Given the description of an element on the screen output the (x, y) to click on. 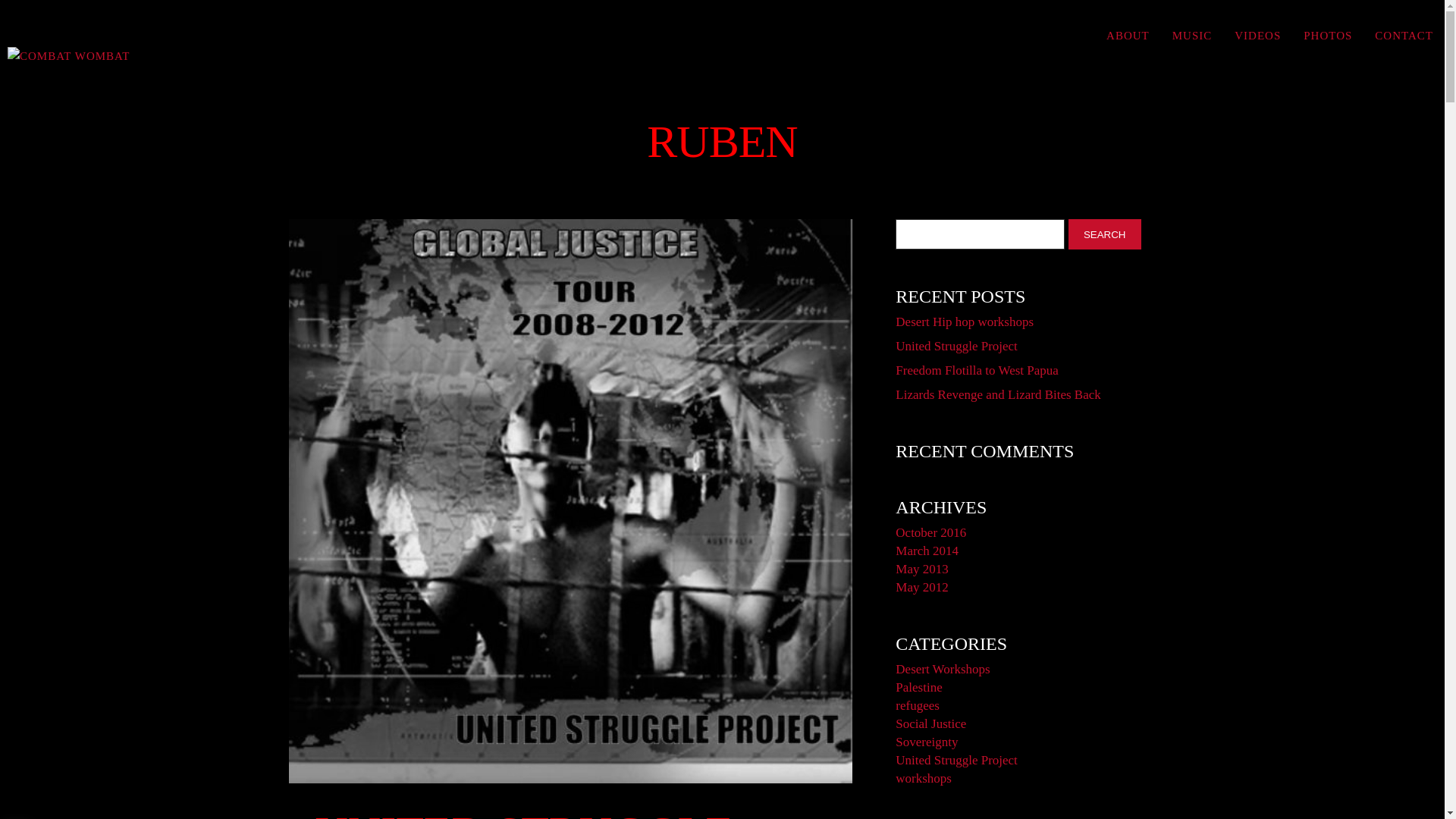
PHOTOS (1327, 35)
Search (1104, 234)
VIDEOS (1257, 35)
CONTACT (1403, 35)
ABOUT (1128, 35)
UNITED STRUGGLE PROJECT (571, 814)
